Given the description of an element on the screen output the (x, y) to click on. 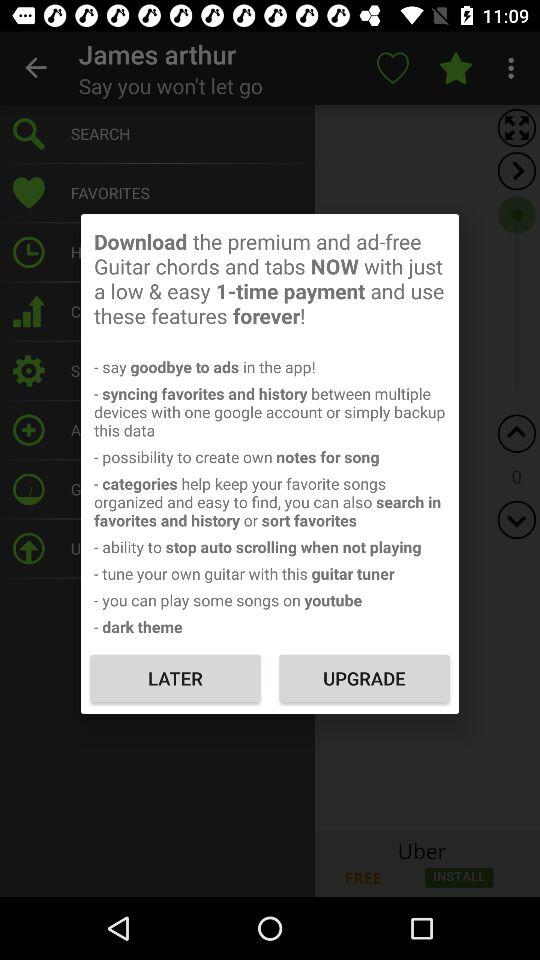
turn on the later (175, 677)
